Given the description of an element on the screen output the (x, y) to click on. 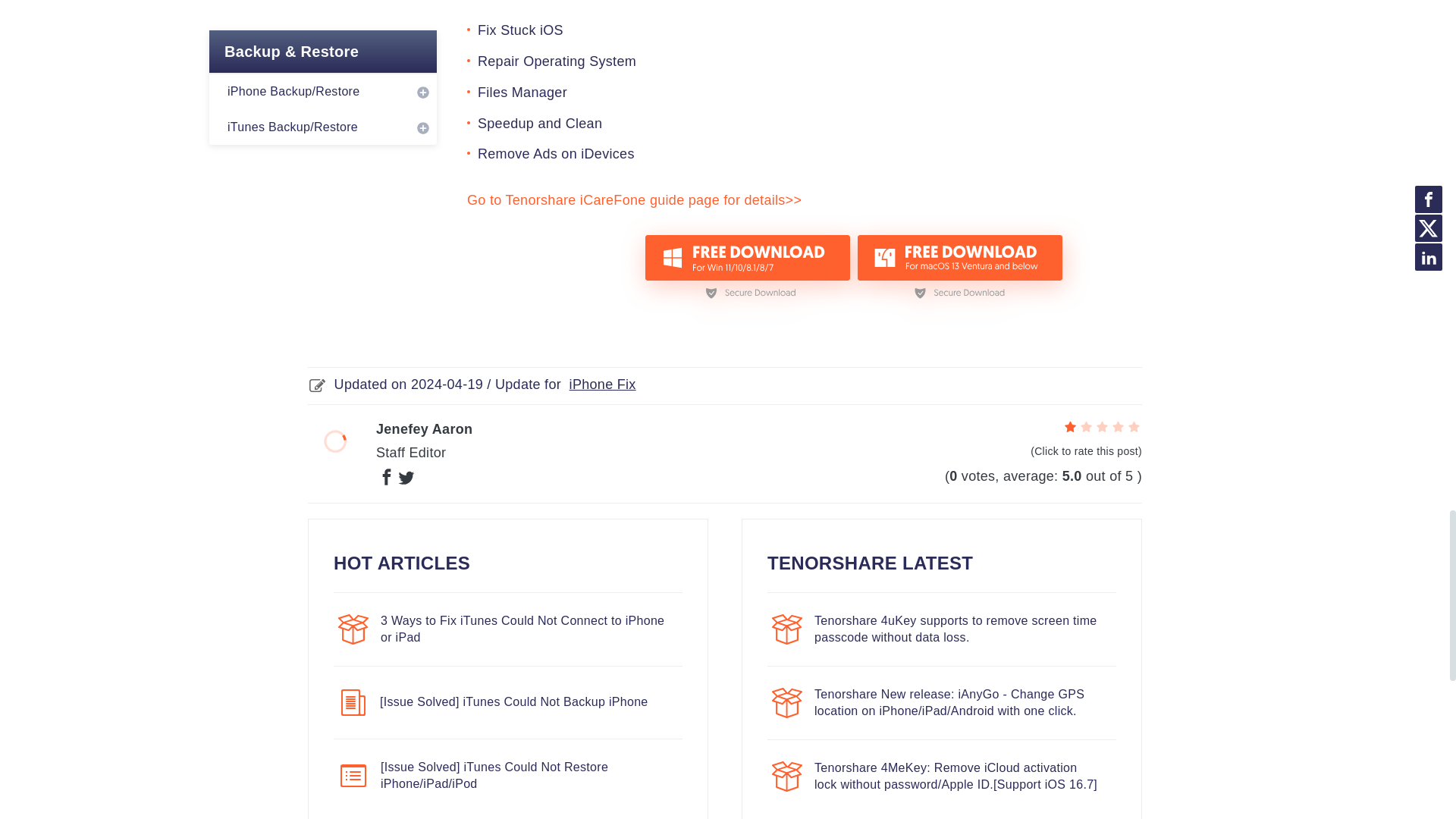
1 (1070, 427)
3 (1102, 427)
5 (1133, 427)
4 (1118, 427)
2 (1086, 427)
